Given the description of an element on the screen output the (x, y) to click on. 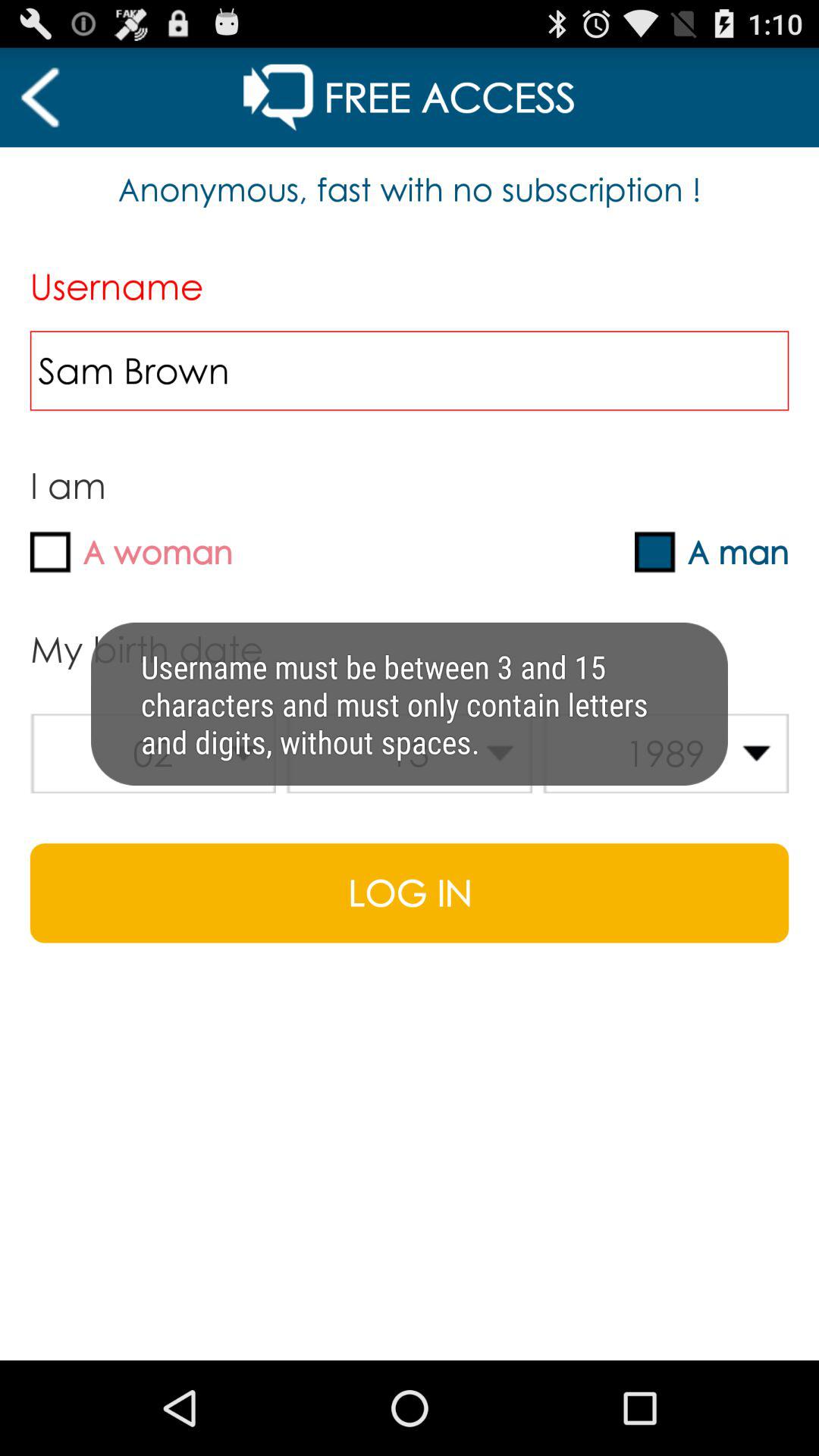
next page the article (39, 97)
